Given the description of an element on the screen output the (x, y) to click on. 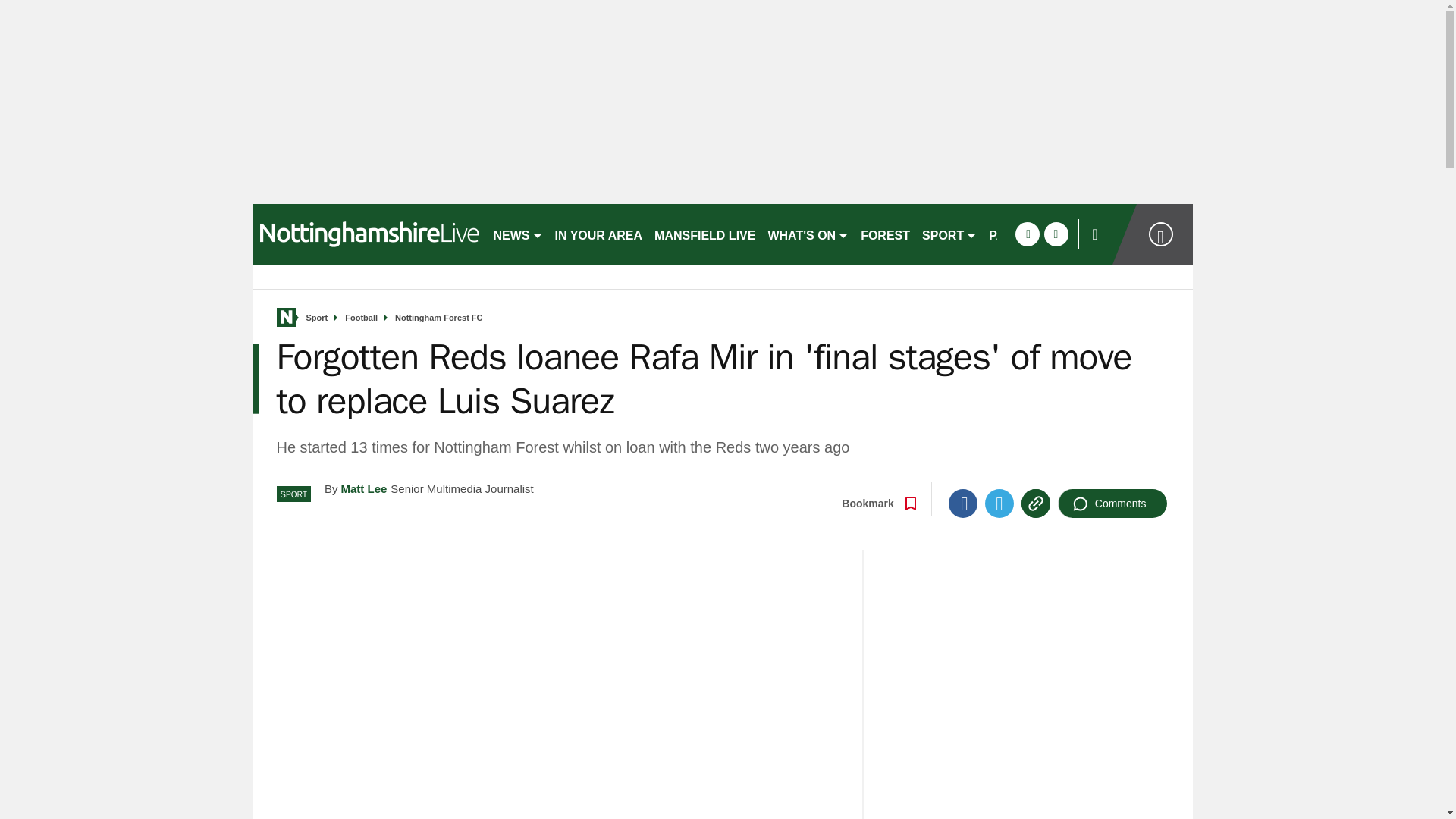
twitter (1055, 233)
MANSFIELD LIVE (704, 233)
NEWS (517, 233)
facebook (1026, 233)
IN YOUR AREA (598, 233)
PARTNER STORIES (1045, 233)
WHAT'S ON (807, 233)
Comments (1112, 502)
SPORT (948, 233)
nottinghampost (365, 233)
Twitter (999, 502)
Facebook (962, 502)
FOREST (884, 233)
